Given the description of an element on the screen output the (x, y) to click on. 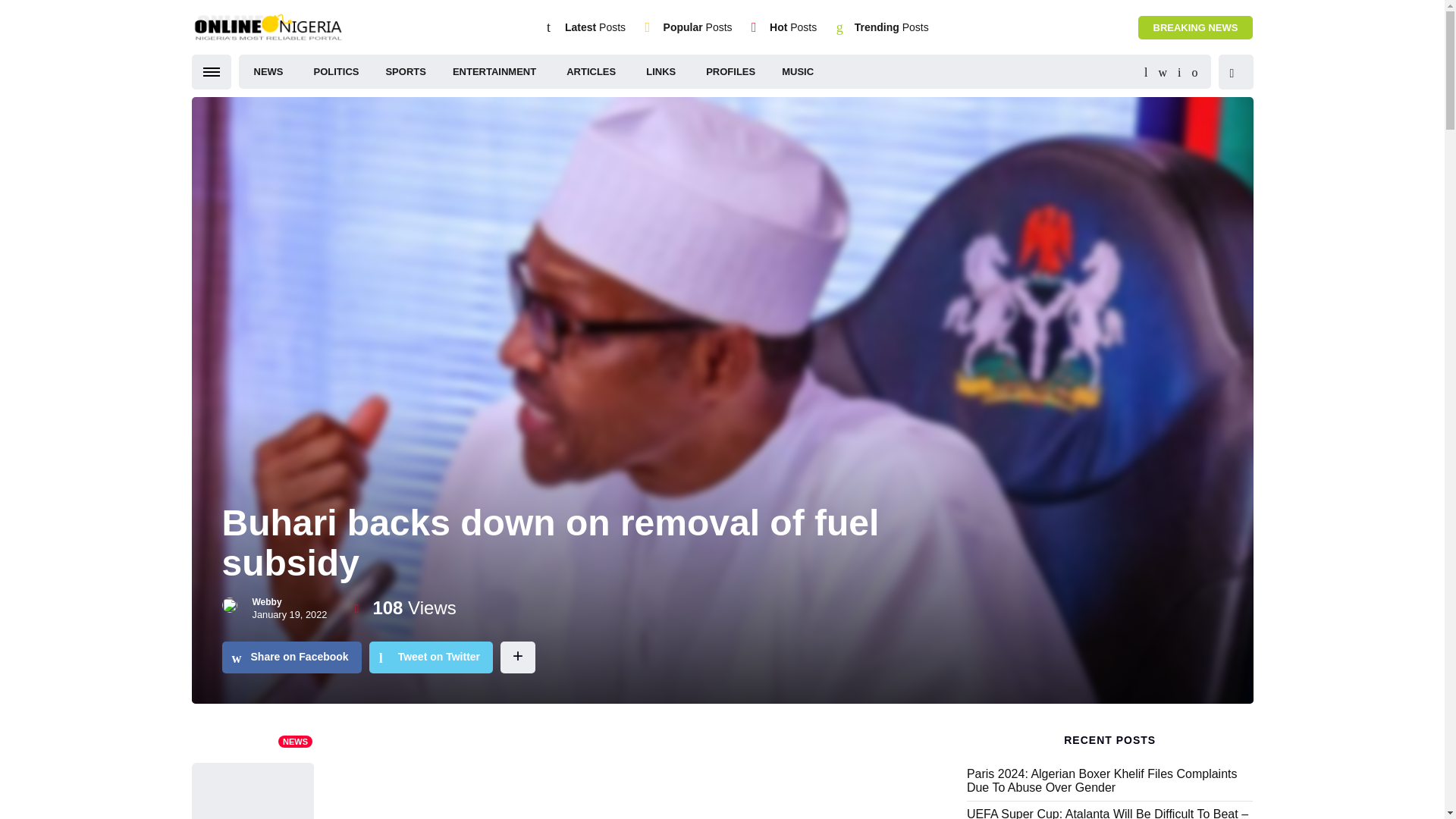
Popular Posts (697, 26)
Posts by Webby (266, 602)
Latest Posts (595, 26)
Advertisement (639, 767)
Trending Posts (891, 26)
BREAKING NEWS (1195, 27)
Hot Posts (793, 26)
